Given the description of an element on the screen output the (x, y) to click on. 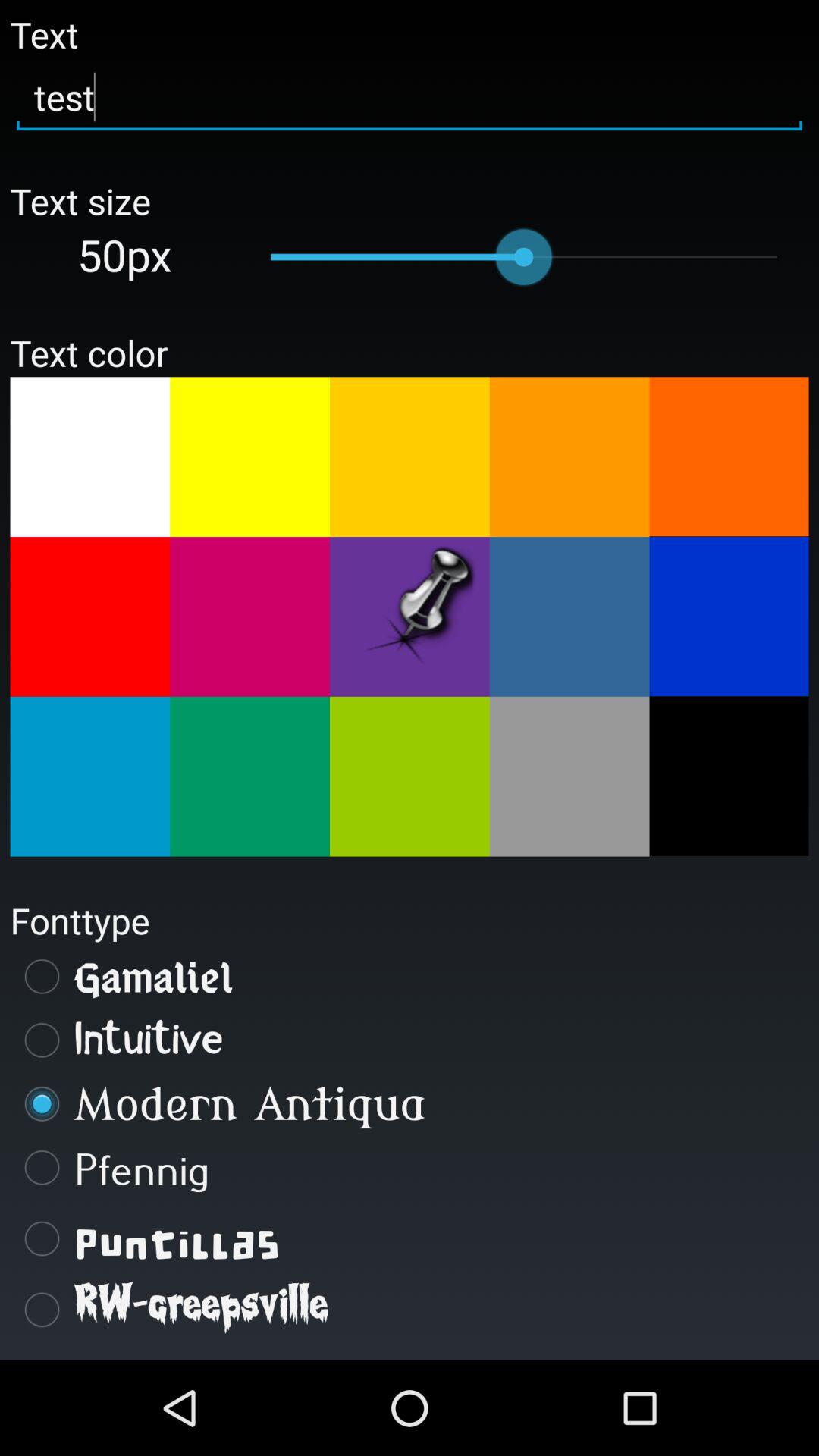
text color option (569, 616)
